Given the description of an element on the screen output the (x, y) to click on. 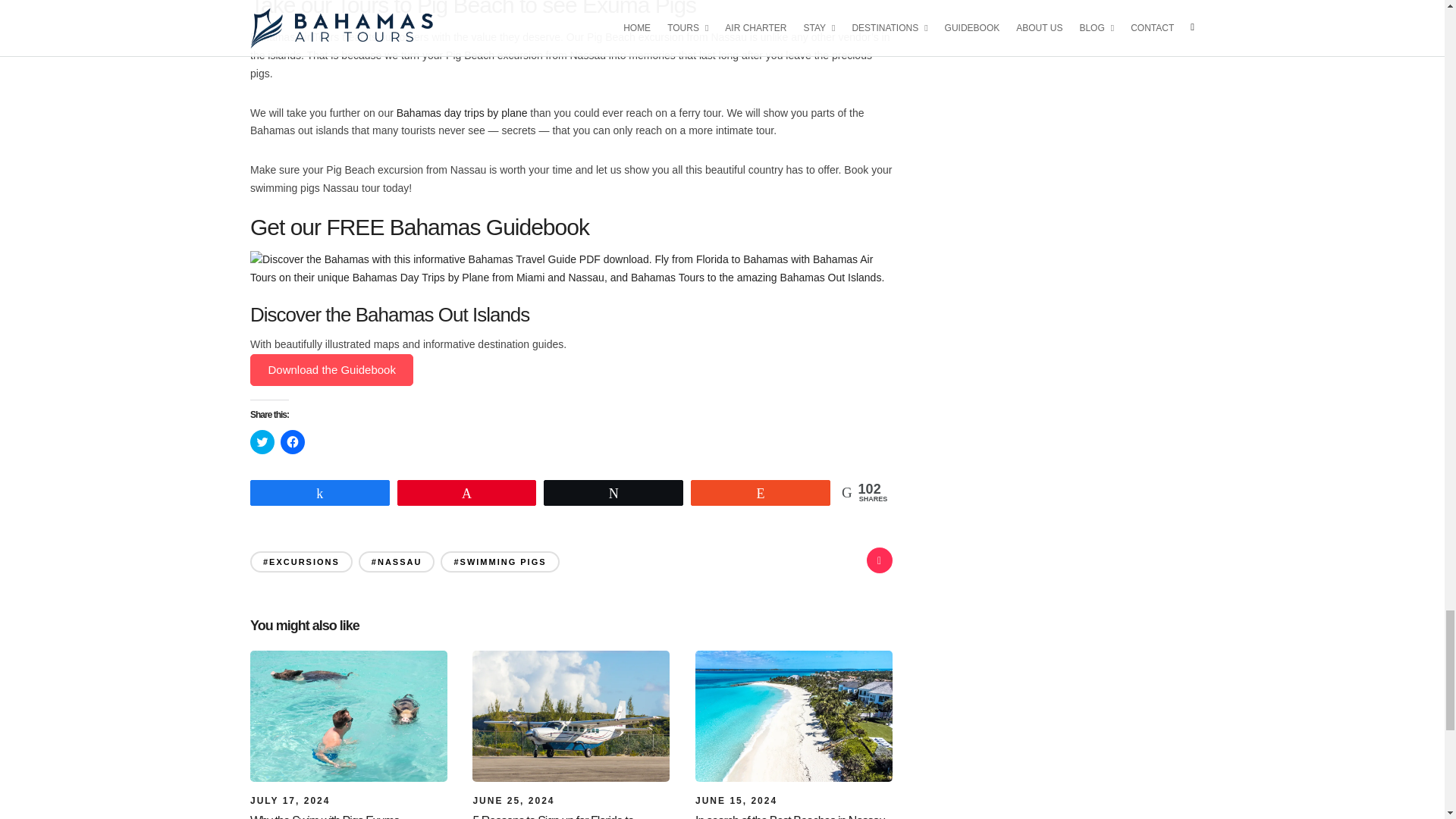
5 Reasons to Sign up for Florida to Bahamas Flights (512, 800)
Click to share on Facebook (292, 441)
Click to share on Twitter (262, 441)
